Given the description of an element on the screen output the (x, y) to click on. 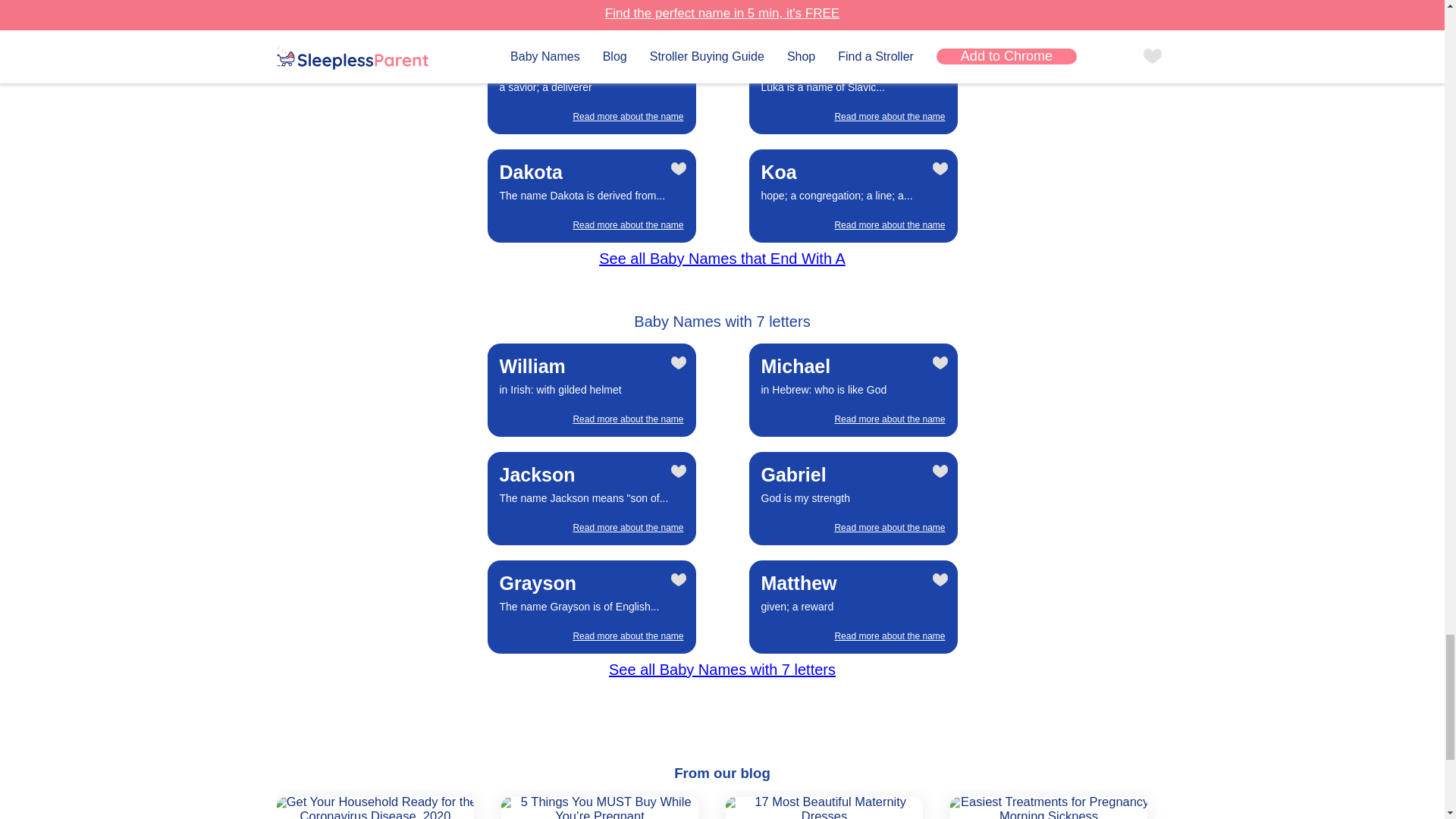
Get Your Household Ready for the Coronavirus Disease, 2020 (371, 807)
17 Most Beautiful Maternity Dresses (821, 807)
Easiest Treatments for Pregnancy Morning Sickness (1045, 807)
